Given the description of an element on the screen output the (x, y) to click on. 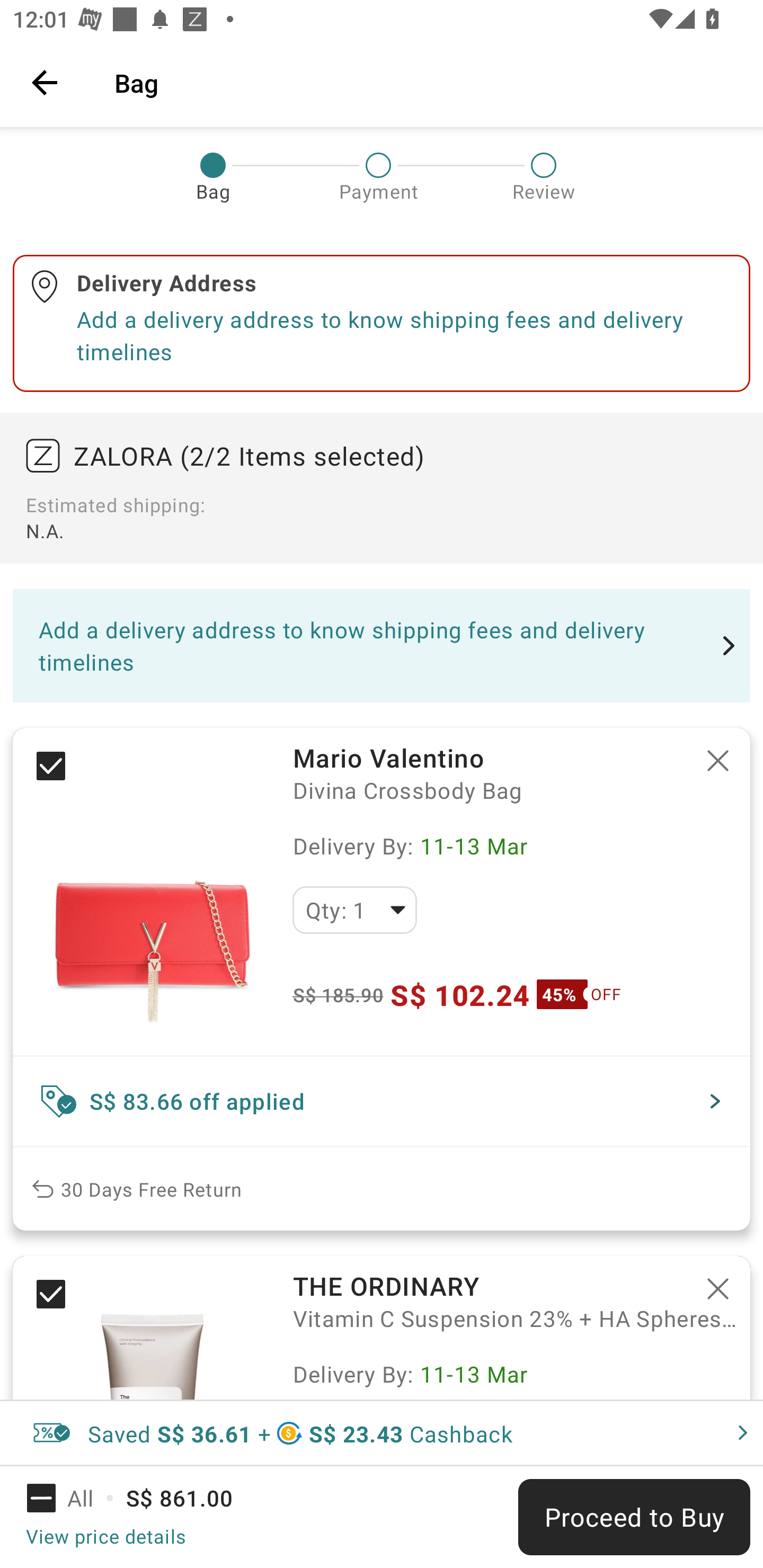
Navigate up (44, 82)
Bag (426, 82)
Qty: 1 (354, 909)
S$ 83.66 off applied (381, 1101)
Saved S$ 36.61 +   S$ 23.43 Cashback (381, 1432)
All (72, 1497)
Proceed to Buy (634, 1516)
View price details (105, 1535)
